Given the description of an element on the screen output the (x, y) to click on. 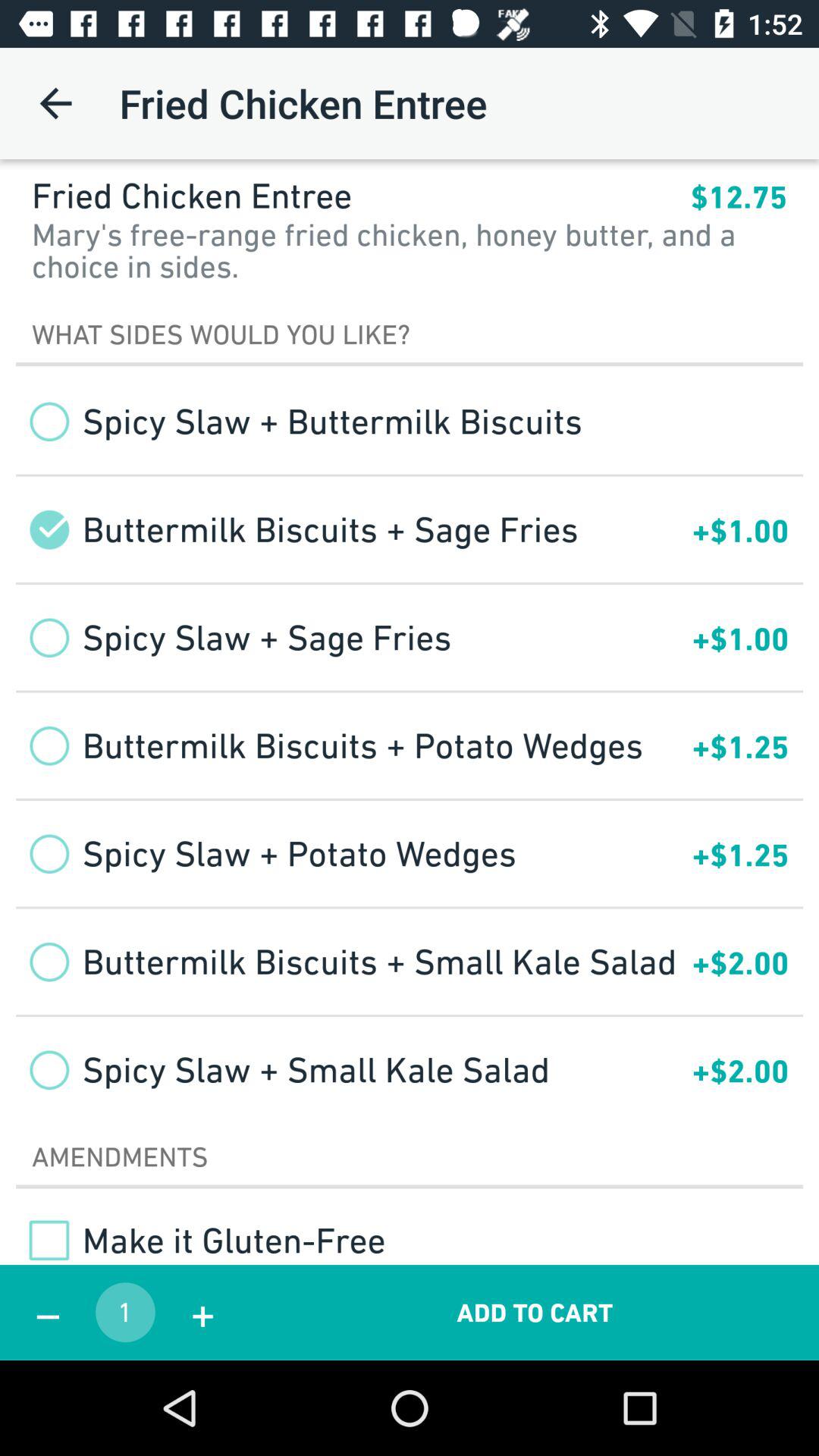
turn on the app next to the 1 icon (202, 1312)
